Given the description of an element on the screen output the (x, y) to click on. 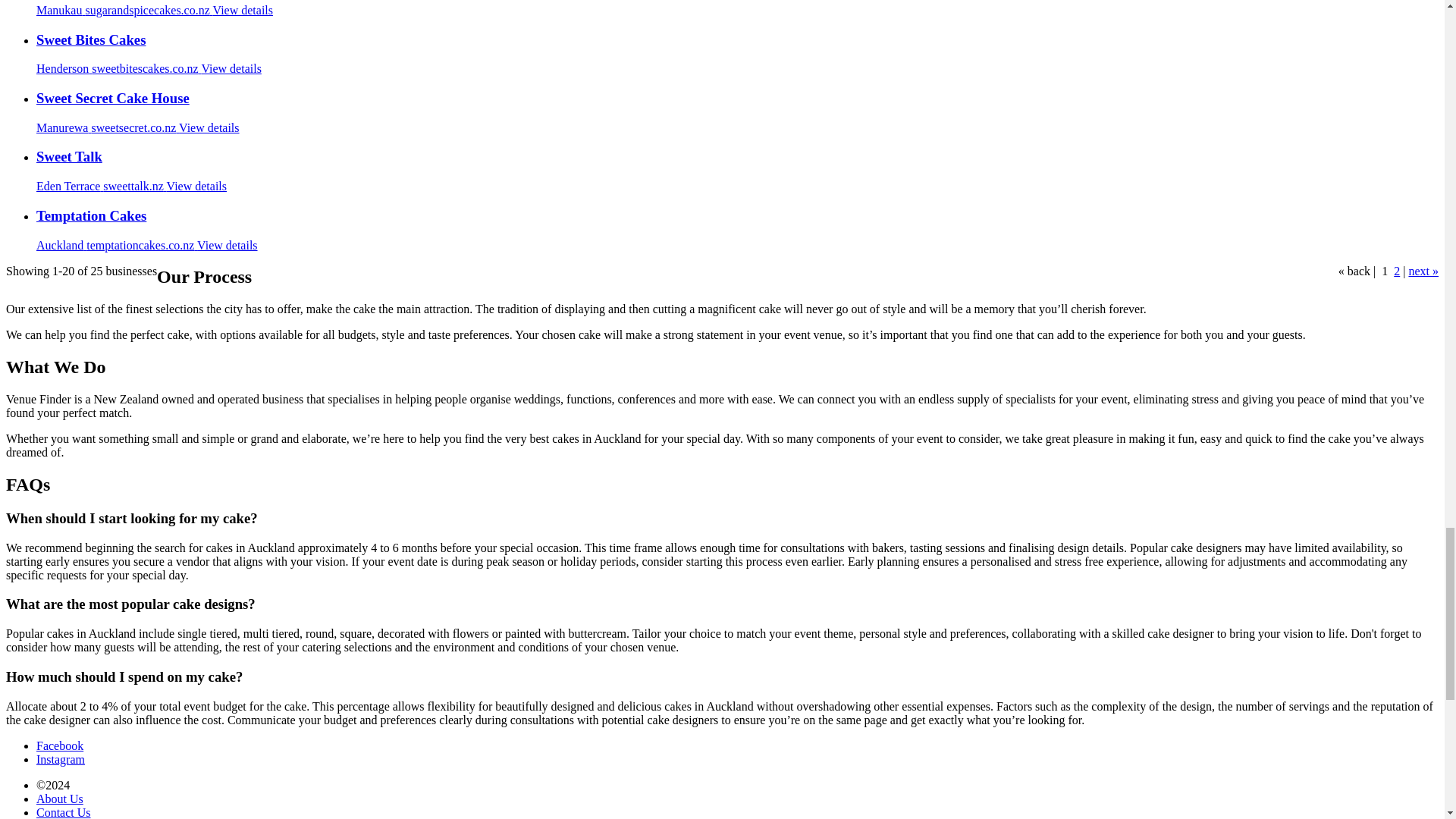
Contact Us (63, 812)
Facebook (59, 745)
Facebook (59, 745)
Instagram (60, 758)
2 (1396, 270)
About Us (59, 798)
Instagram (60, 758)
